Given the description of an element on the screen output the (x, y) to click on. 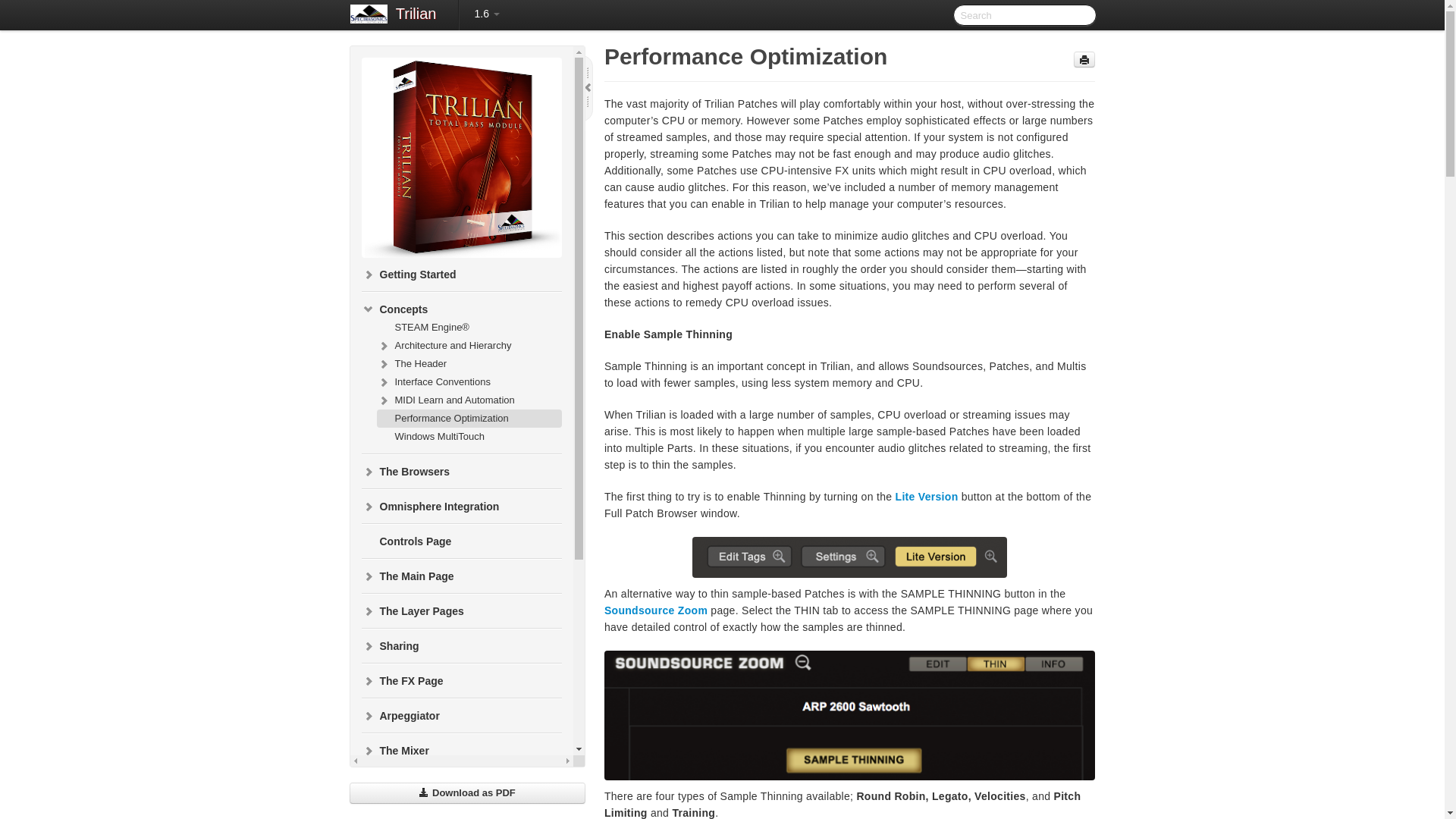
Trilian (415, 15)
1.6 (485, 14)
Print page (1084, 59)
